Given the description of an element on the screen output the (x, y) to click on. 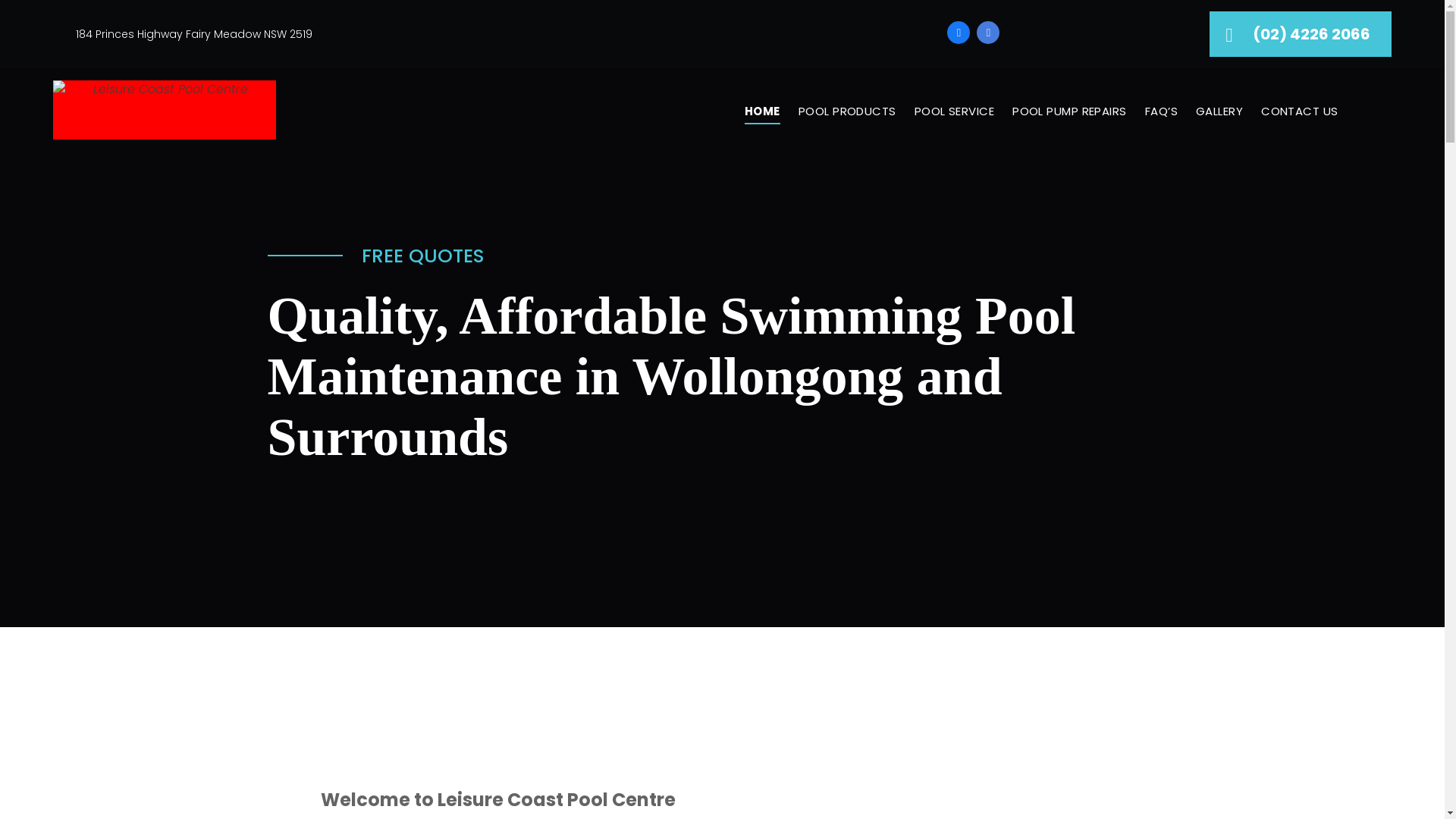
CONTACT US Element type: text (1299, 111)
HOME Element type: text (762, 111)
POOL SERVICE Element type: text (954, 111)
Leisure Coast Pool Centre Element type: hover (164, 109)
POOL PUMP REPAIRS Element type: text (1069, 111)
(02) 4226 2066 Element type: text (1300, 33)
184 Princes Highway Fairy Meadow NSW 2519 Element type: text (193, 32)
GALLERY Element type: text (1219, 111)
POOL PRODUCTS Element type: text (847, 111)
